Given the description of an element on the screen output the (x, y) to click on. 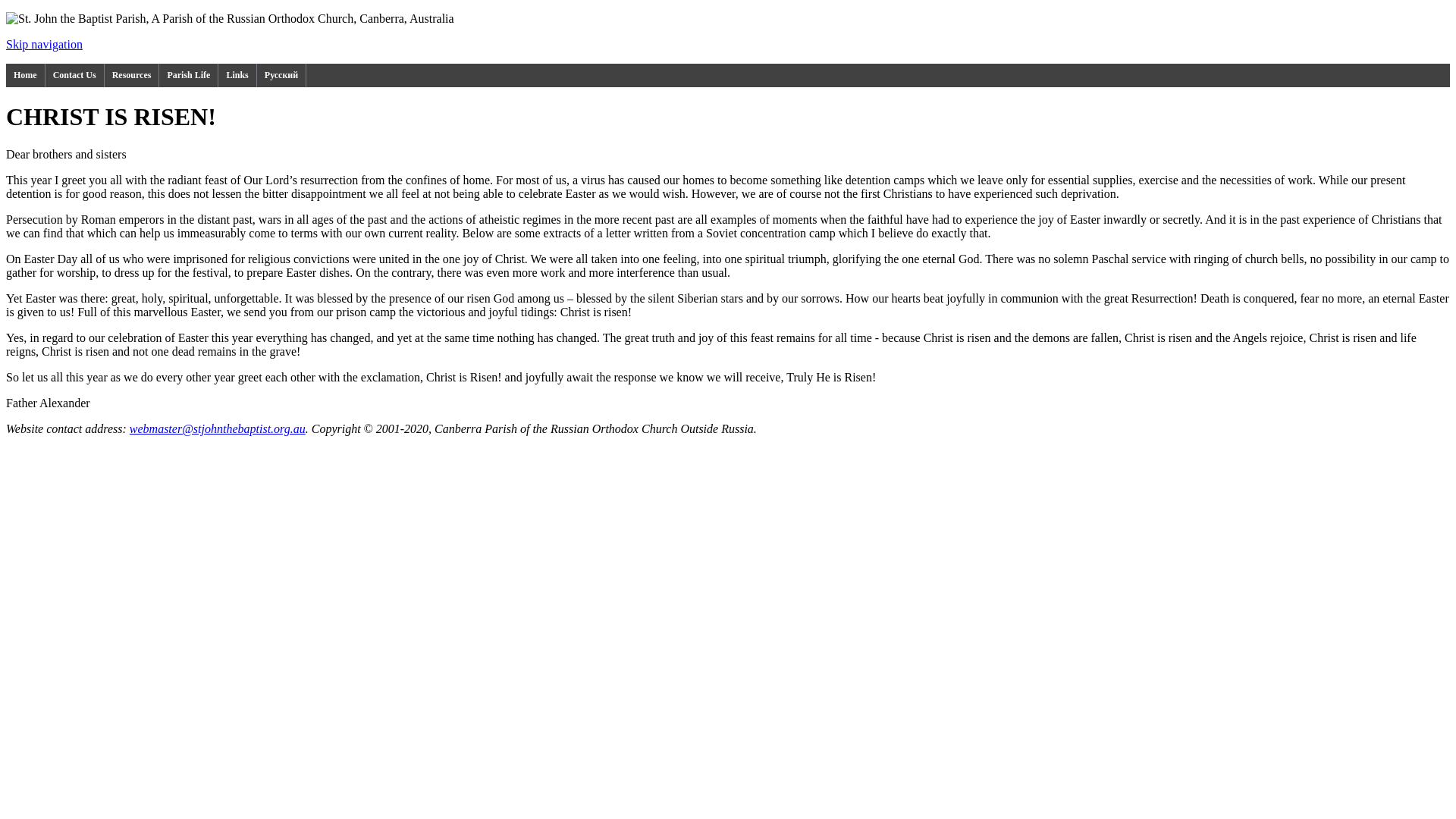
Skip navigation Element type: text (44, 43)
Resources Element type: text (132, 75)
Links Element type: text (237, 75)
Home Element type: text (25, 75)
webmaster@stjohnthebaptist.org.au Element type: text (217, 428)
Parish Life Element type: text (188, 75)
Contact Us Element type: text (74, 75)
